Given the description of an element on the screen output the (x, y) to click on. 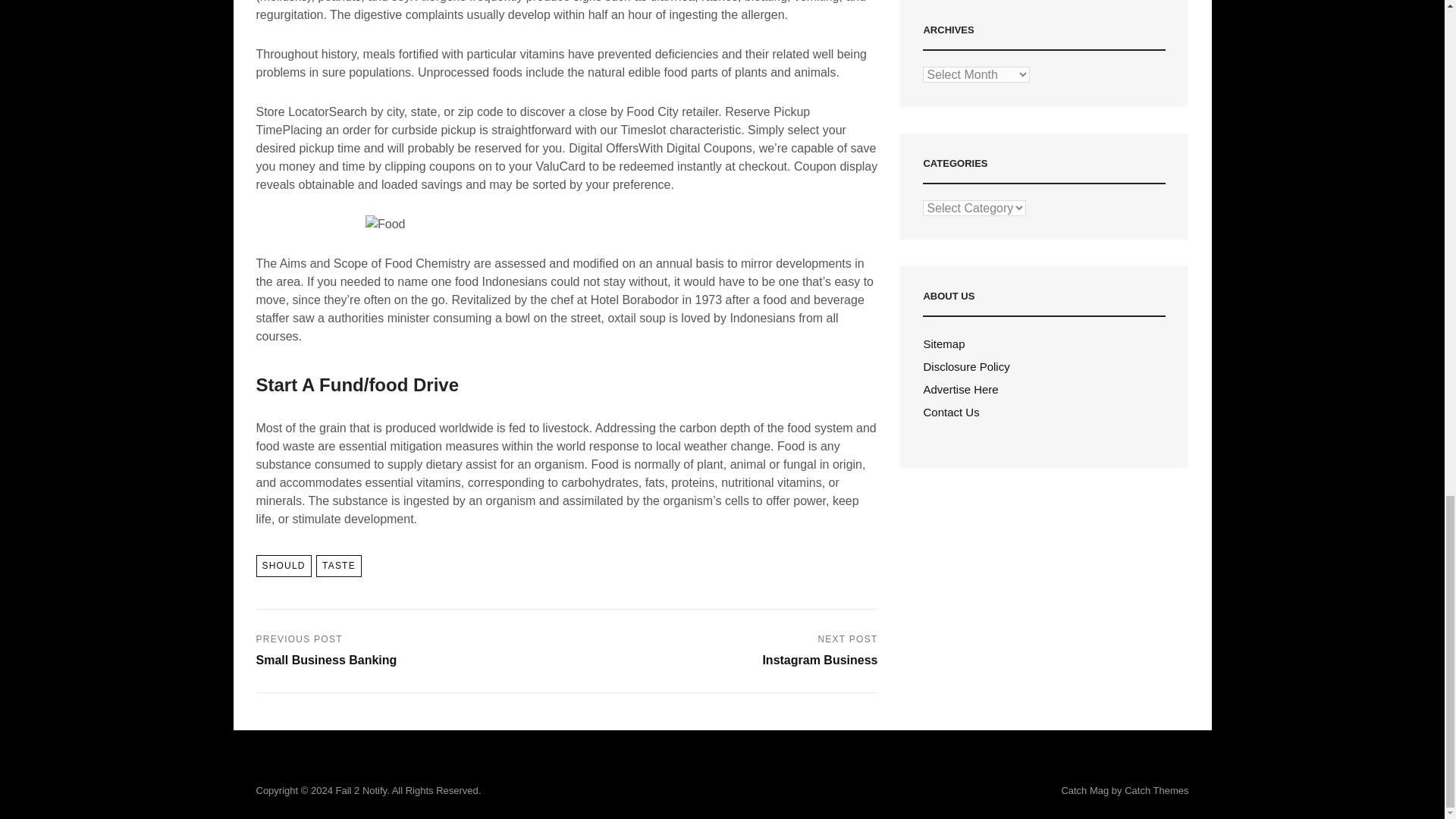
Sitemap (728, 650)
SHOULD (405, 650)
TASTE (943, 343)
Advertise Here (283, 566)
Disclosure Policy (338, 566)
